Given the description of an element on the screen output the (x, y) to click on. 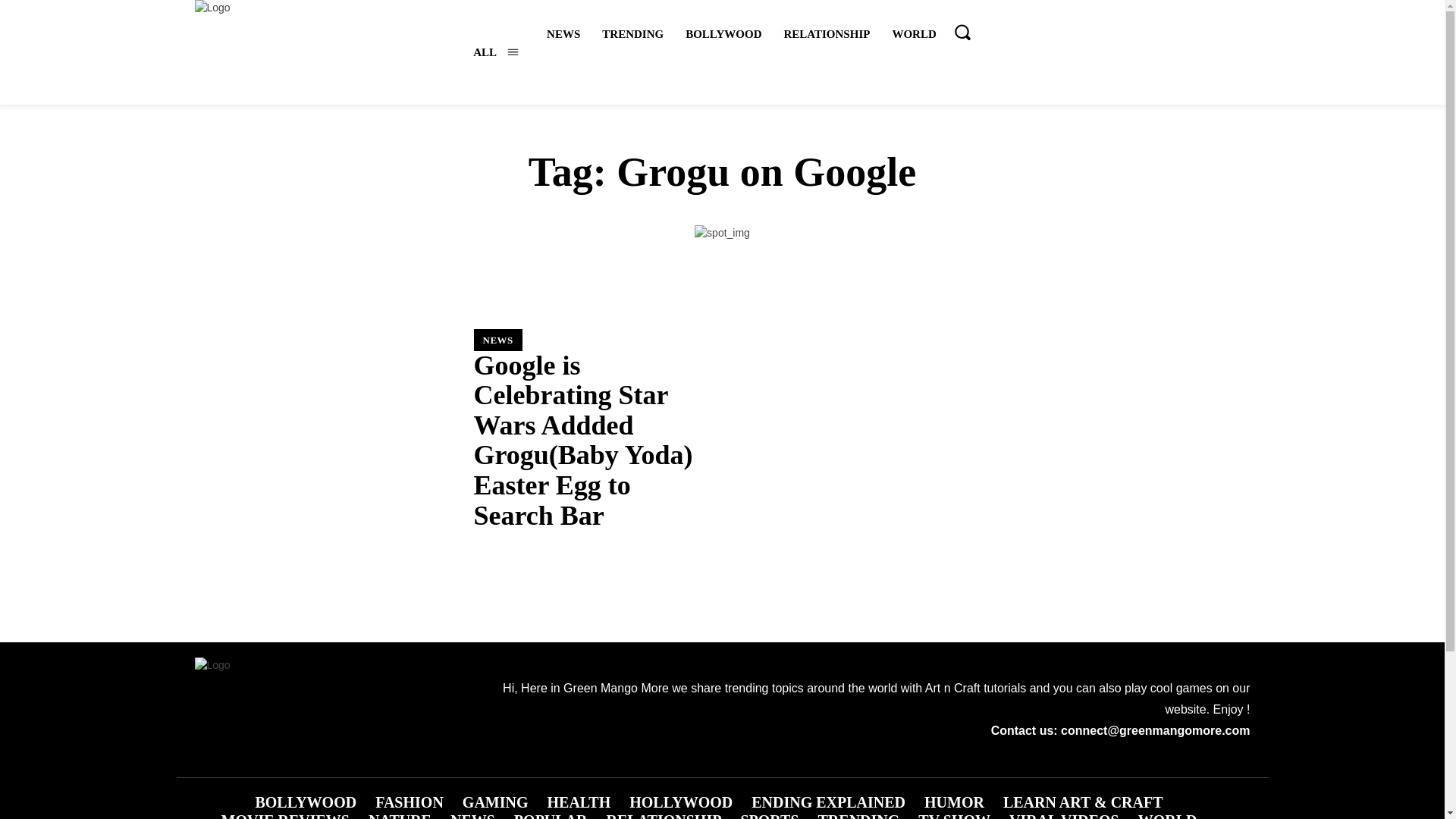
ALL (495, 51)
All (495, 51)
